Given the description of an element on the screen output the (x, y) to click on. 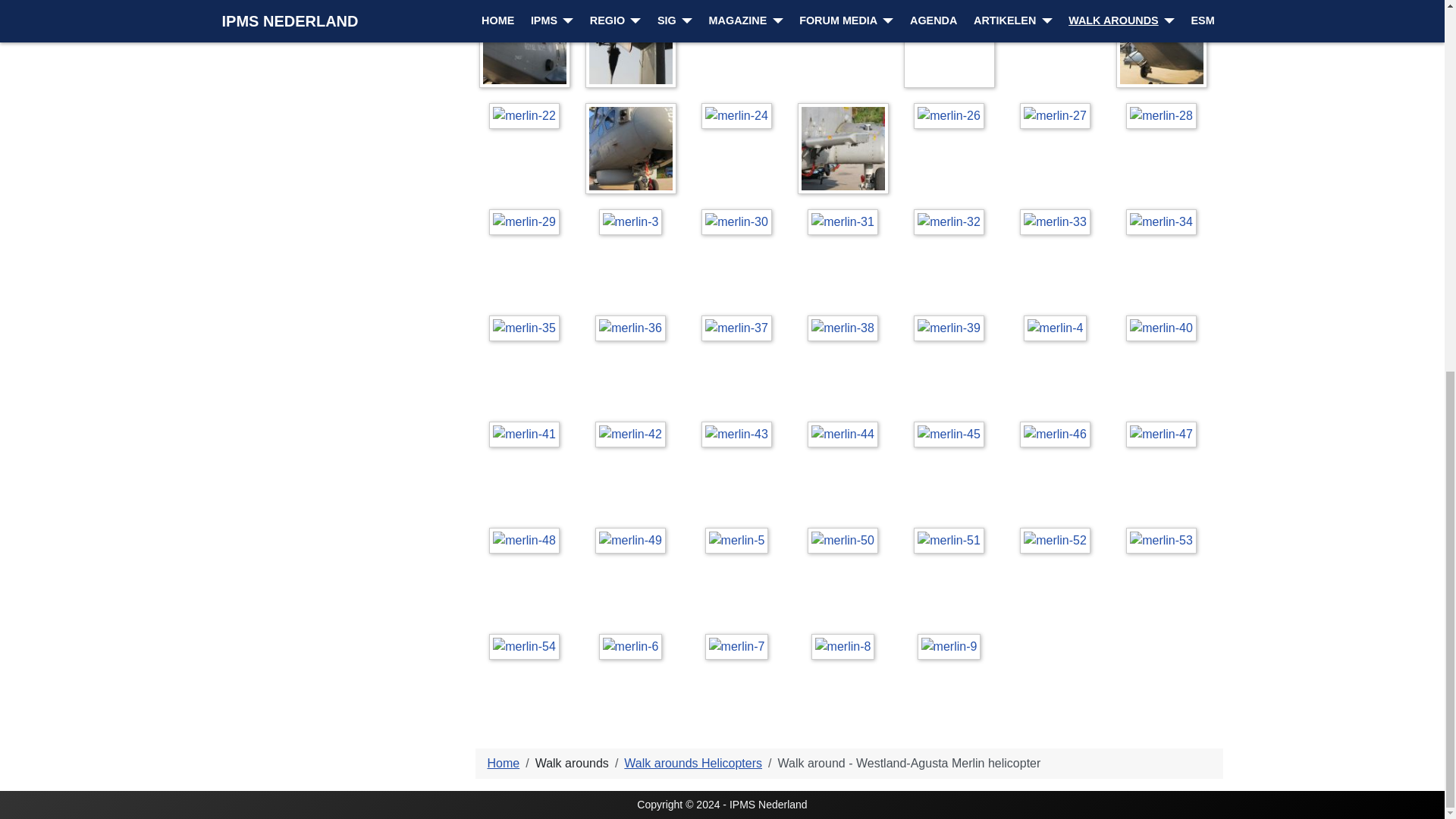
merlin-16 (524, 43)
merlin-17 (631, 43)
merlin-16 (527, 44)
merlin-17 (633, 44)
merlin-18 (740, 11)
